Given the description of an element on the screen output the (x, y) to click on. 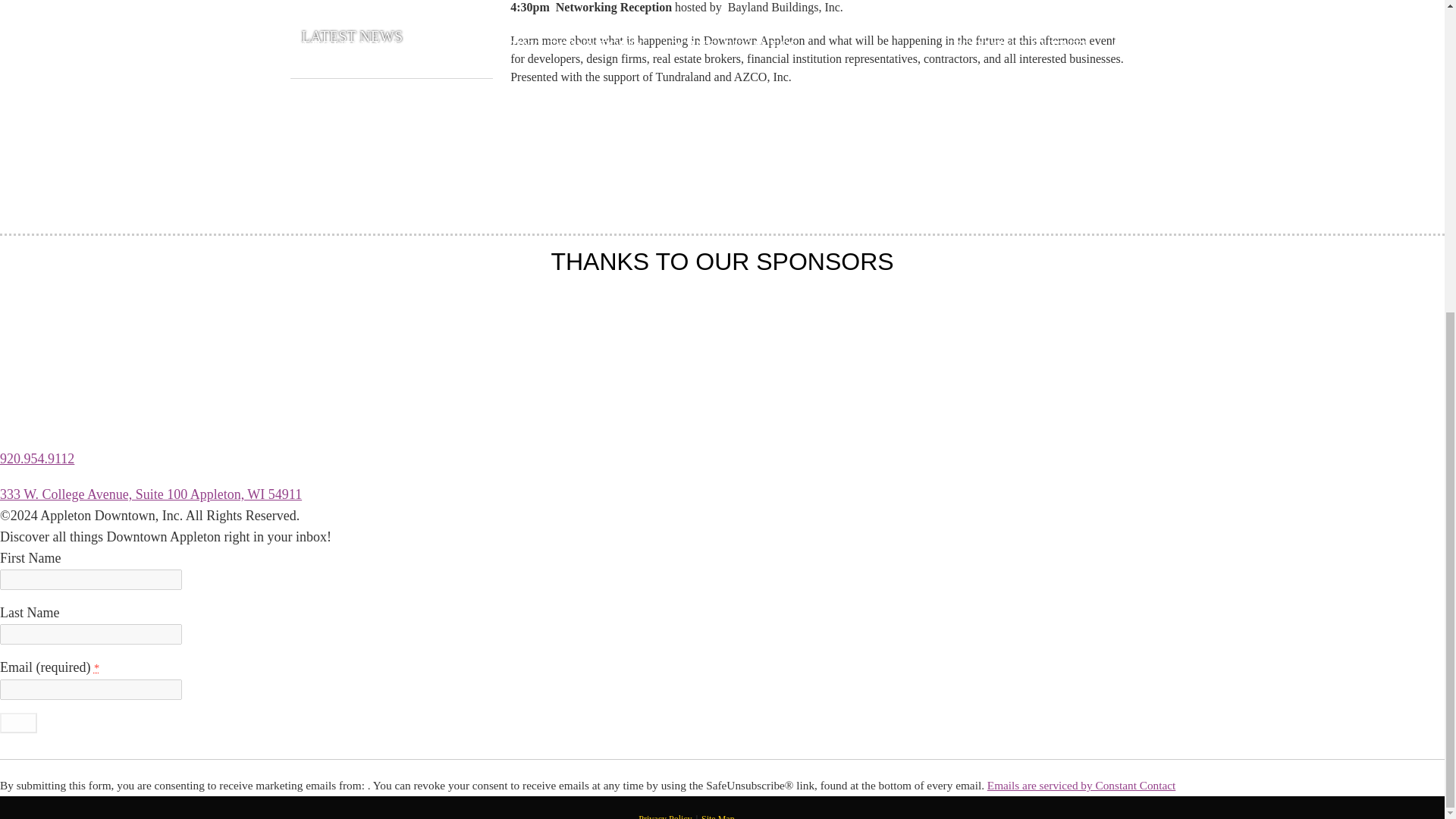
GO! (18, 722)
